Given the description of an element on the screen output the (x, y) to click on. 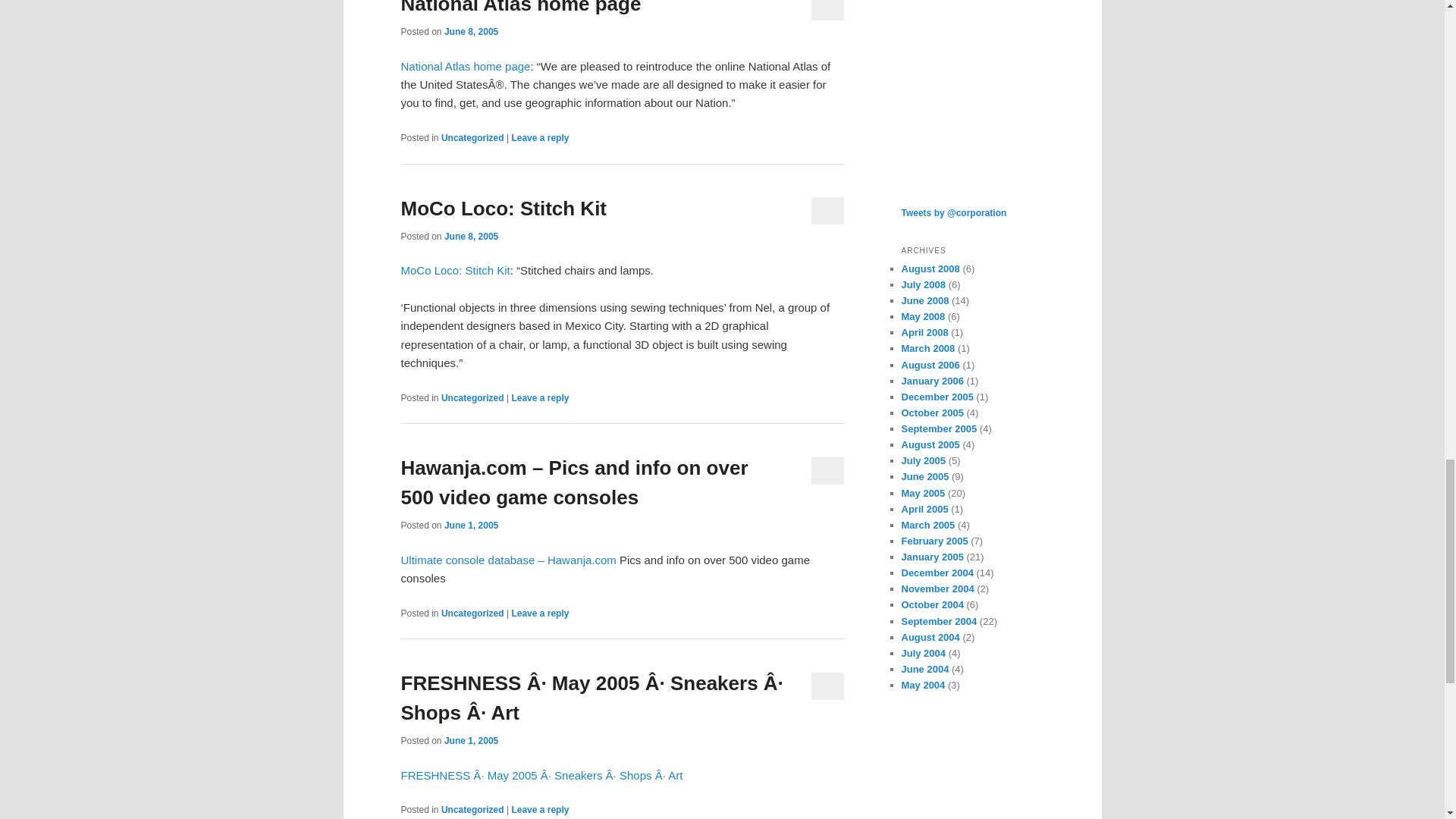
3:25 PM (470, 525)
June 8, 2005 (470, 235)
2:31 PM (470, 235)
June 8, 2005 (470, 31)
Leave a reply (540, 137)
6:22 PM (470, 31)
Uncategorized (472, 137)
10:50 AM (470, 740)
National Atlas home page (464, 65)
National Atlas home page (520, 7)
